Given the description of an element on the screen output the (x, y) to click on. 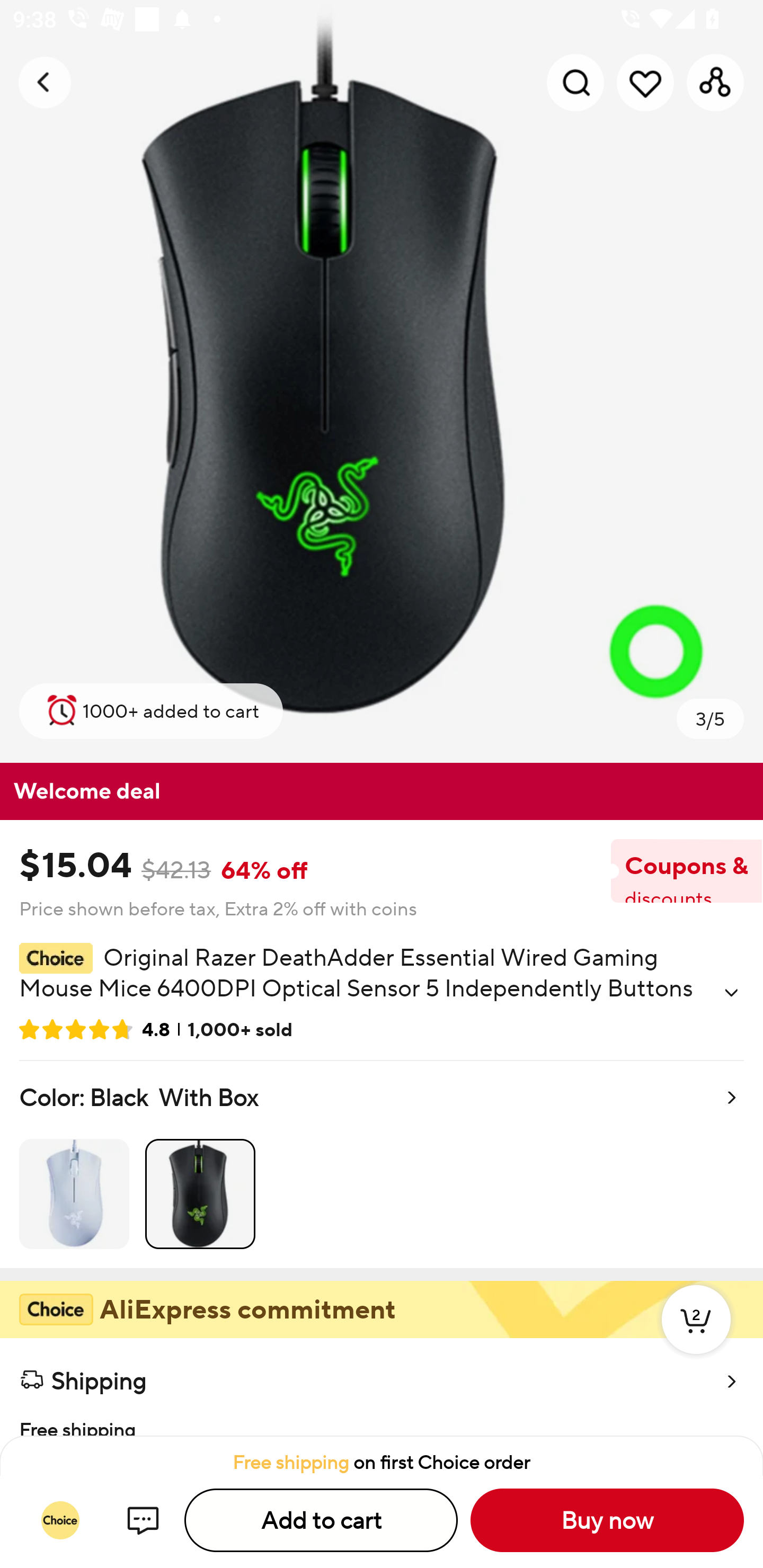
Navigate up (44, 82)
 (730, 992)
Color: Black  With Box  (381, 1164)
2 (695, 1338)
Shipping  Free shipping  (381, 1386)
Free shipping  (381, 1418)
Add to cart (320, 1520)
Buy now (606, 1520)
